Given the description of an element on the screen output the (x, y) to click on. 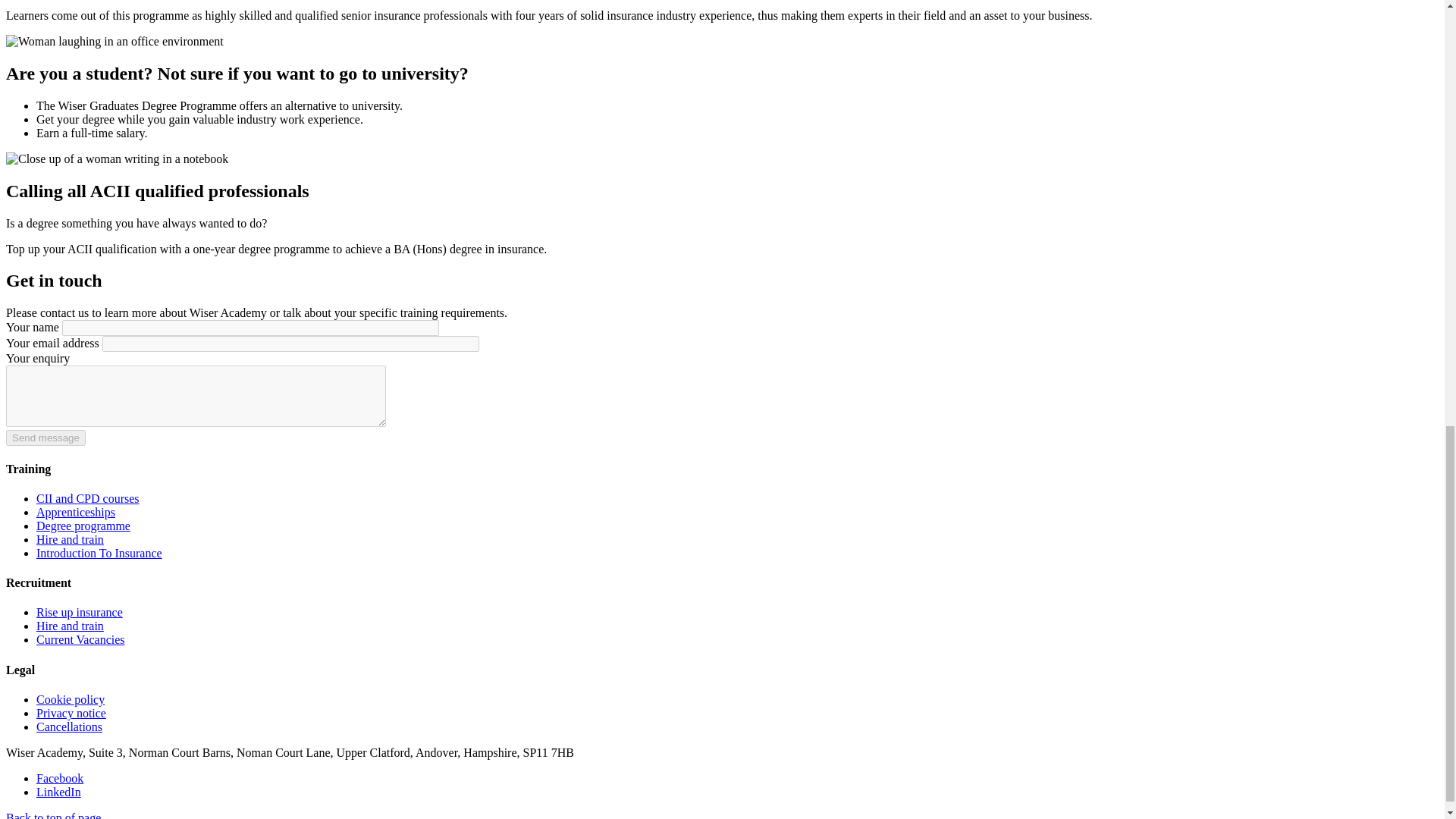
Cancellations (68, 726)
Privacy notice (71, 712)
Cookie policy (70, 698)
Apprenticeships (75, 512)
Hire and train (69, 539)
Kickstart (98, 553)
Facebook (59, 778)
Degree programme (83, 525)
Current Vacancies (80, 639)
Introduction To Insurance (98, 553)
Send message (45, 437)
Rise up insurance (79, 612)
LinkedIn (58, 791)
CII and CPD courses (87, 498)
Send message (45, 437)
